Given the description of an element on the screen output the (x, y) to click on. 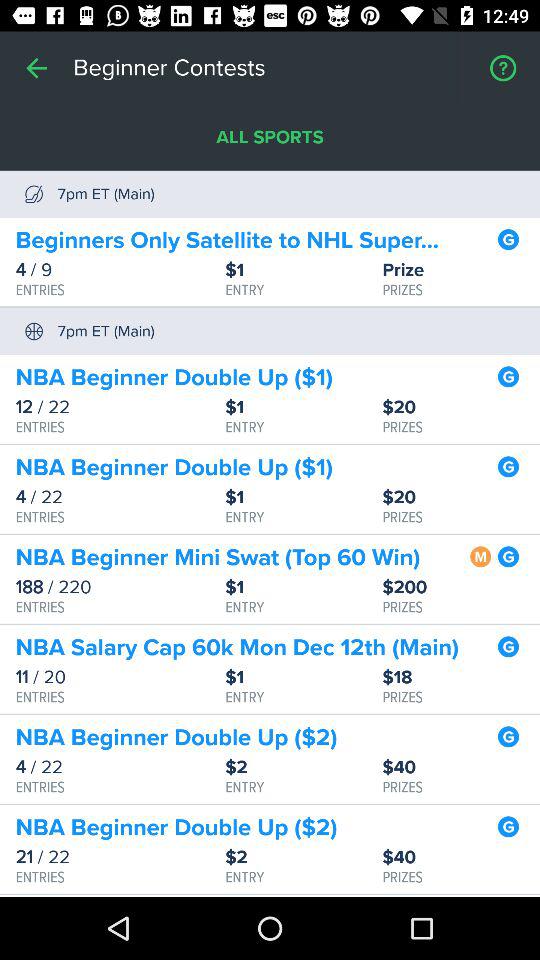
select the icon above 11 / 20 (237, 648)
